Given the description of an element on the screen output the (x, y) to click on. 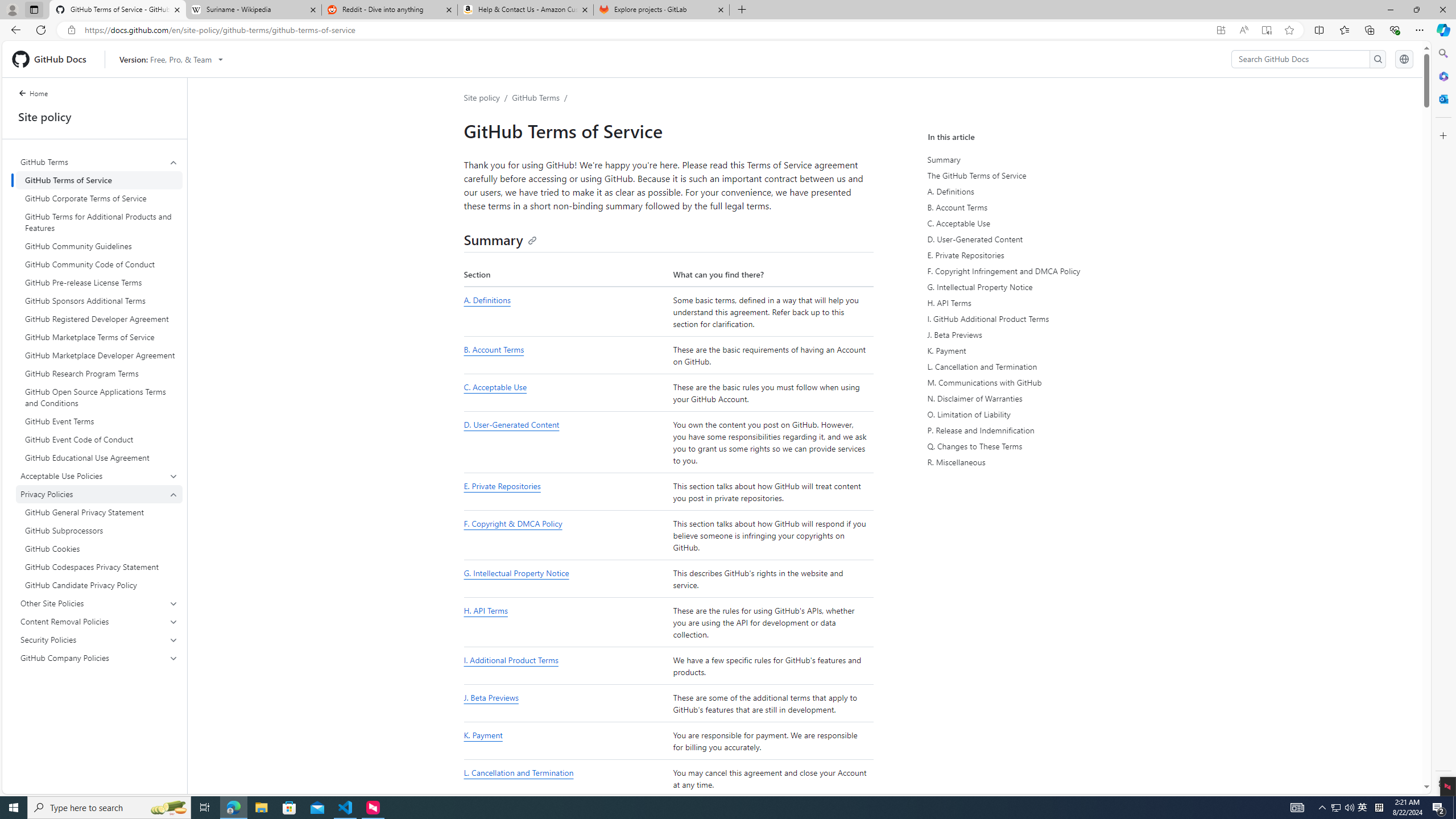
Q. Changes to These Terms (1032, 446)
GitHub Cookies (99, 548)
GitHub Pre-release License Terms (99, 282)
GitHub Terms for Additional Products and Features (99, 222)
GitHub Community Guidelines (99, 246)
GitHub Corporate Terms of Service (99, 198)
F. Copyright Infringement and DMCA Policy (1032, 271)
GitHub Cookies (99, 548)
N. Disclaimer of Warranties (1032, 398)
GitHub Research Program Terms (99, 373)
